Given the description of an element on the screen output the (x, y) to click on. 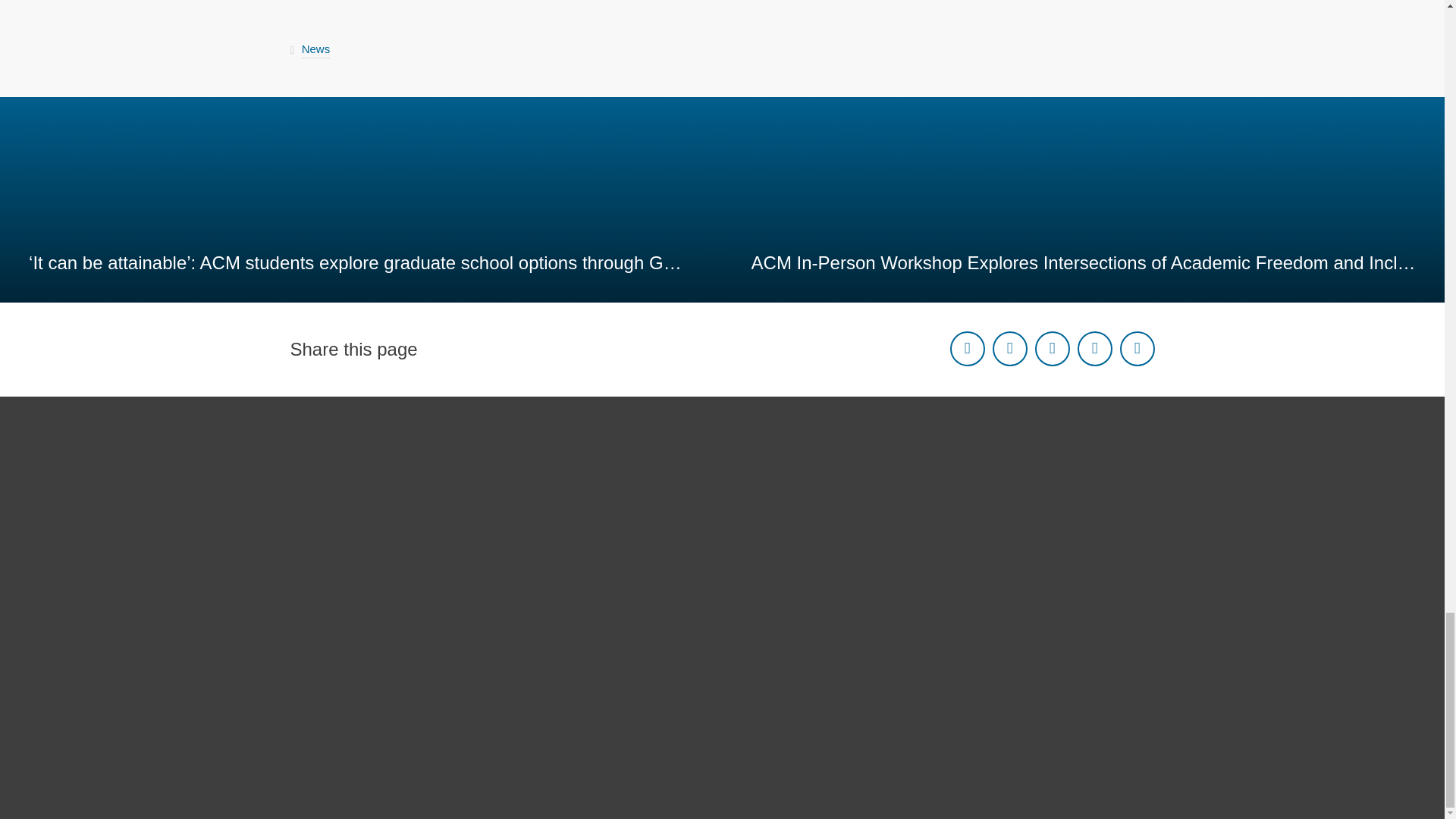
Share on Facebook (966, 348)
Share on Twitter (1008, 348)
Share on LinkedIn (1050, 348)
